Given the description of an element on the screen output the (x, y) to click on. 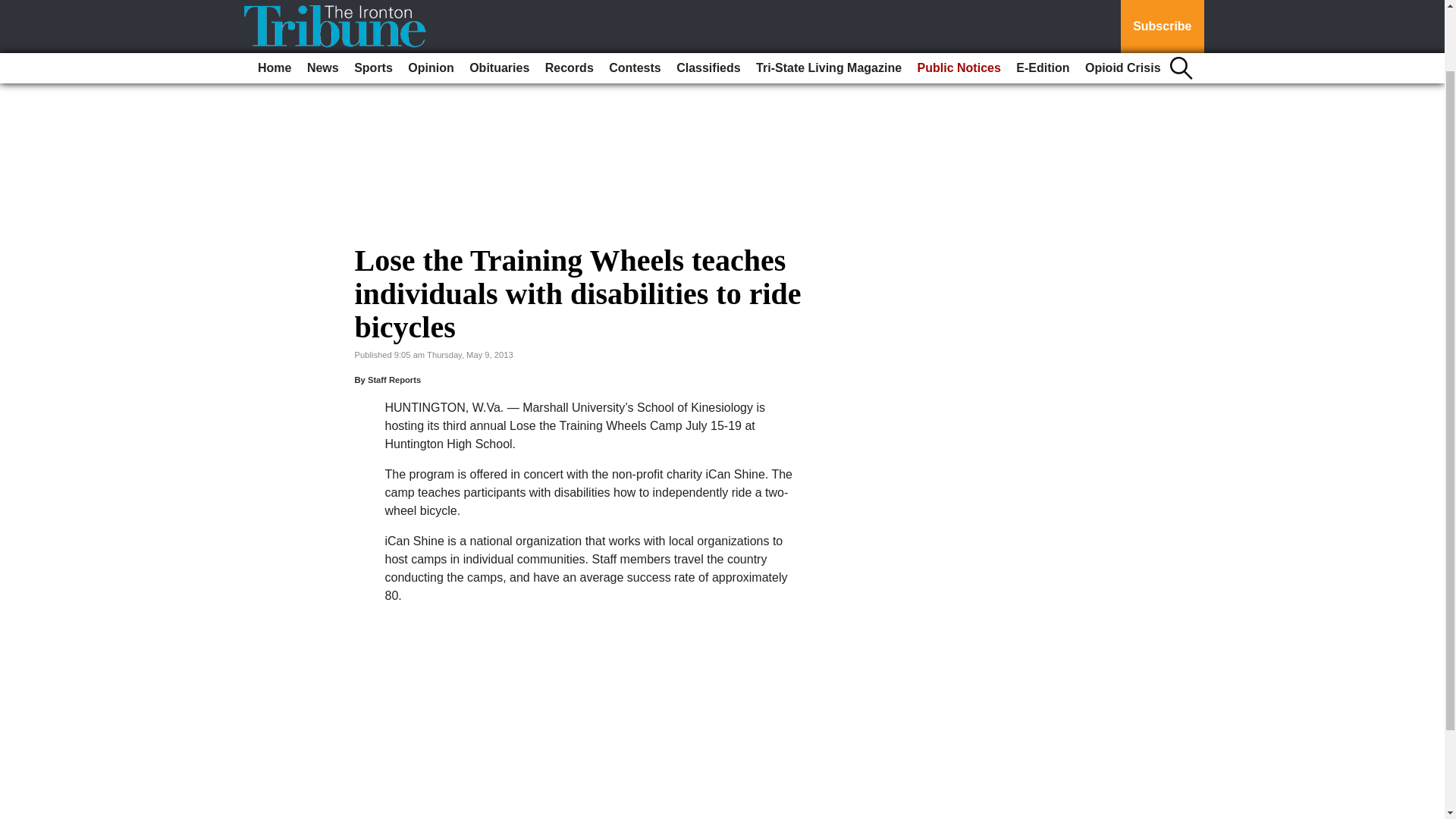
Records (568, 4)
Tri-State Living Magazine (828, 4)
E-Edition (1042, 4)
Public Notices (959, 4)
Opinion (430, 4)
Home (274, 4)
Classifieds (707, 4)
Staff Reports (394, 379)
Obituaries (499, 4)
Contests (634, 4)
Opioid Crisis (1122, 4)
News (323, 4)
Sports (372, 4)
